Given the description of an element on the screen output the (x, y) to click on. 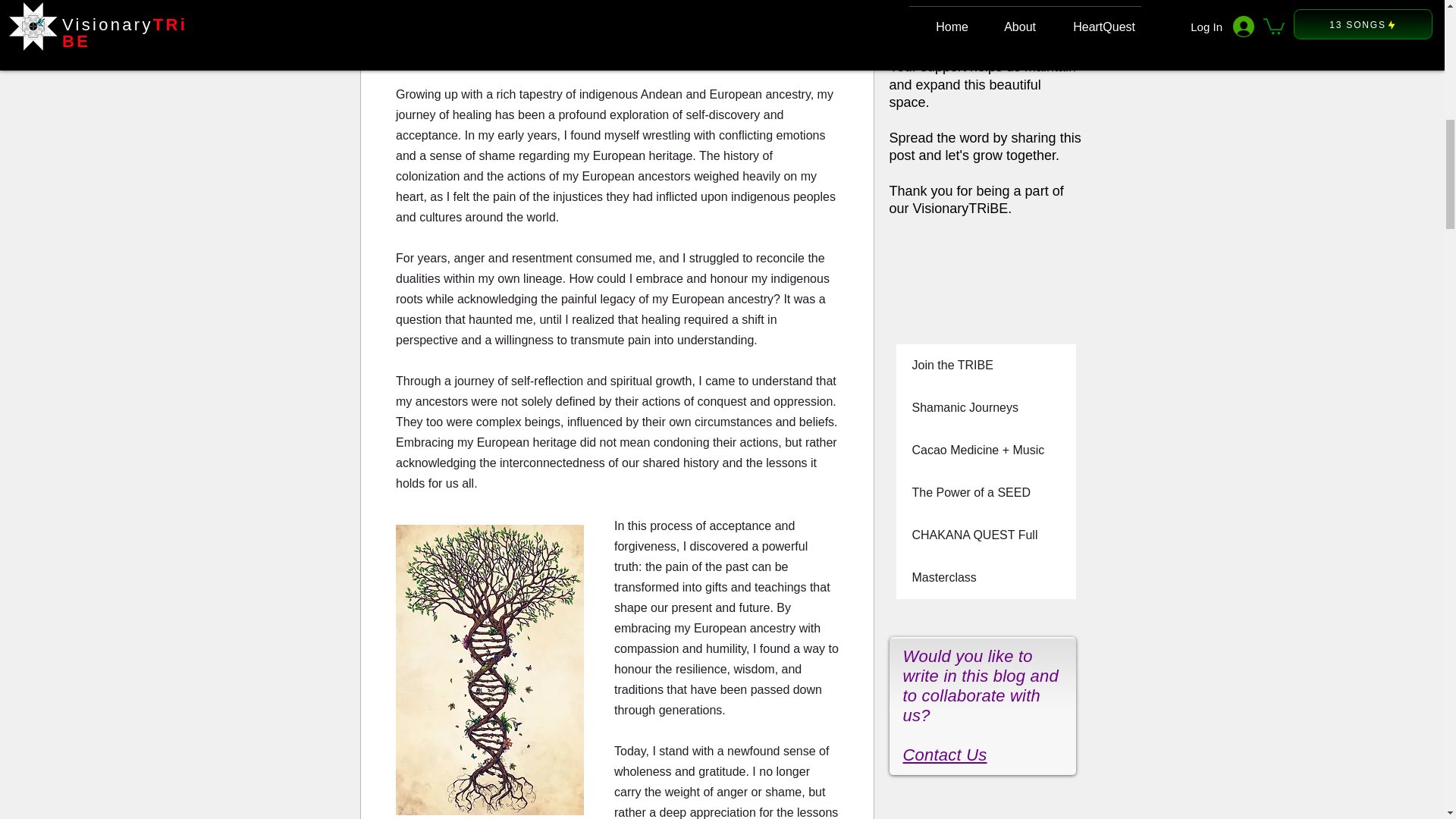
Contact Us (944, 754)
